Given the description of an element on the screen output the (x, y) to click on. 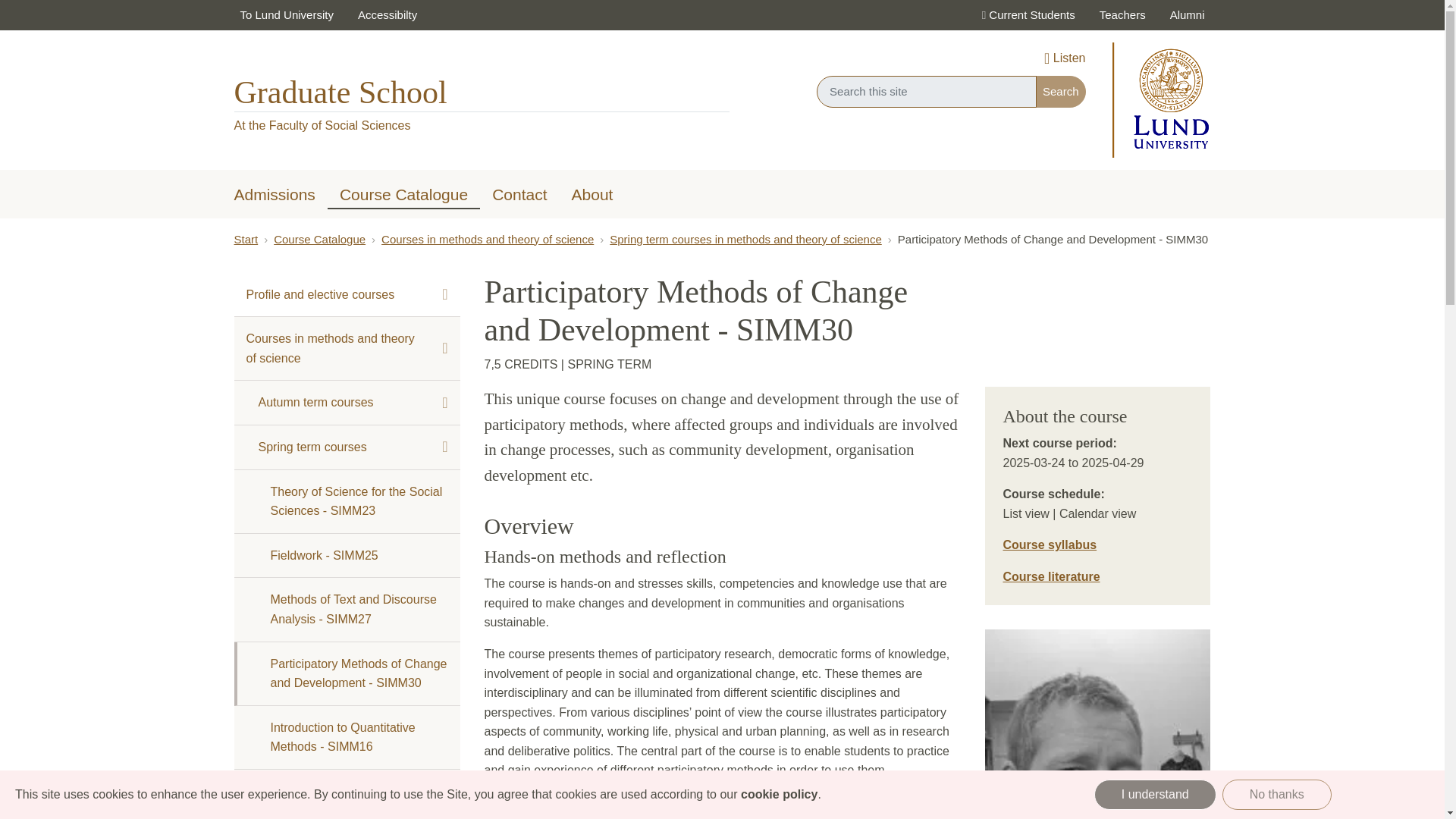
Contact (519, 195)
I understand (1154, 794)
Listen (1063, 59)
Course Catalogue (403, 192)
Graduate School (339, 92)
Search (1060, 91)
Teachers (1122, 15)
No thanks (1277, 794)
cookie policy (778, 793)
To Lund University (286, 15)
